Given the description of an element on the screen output the (x, y) to click on. 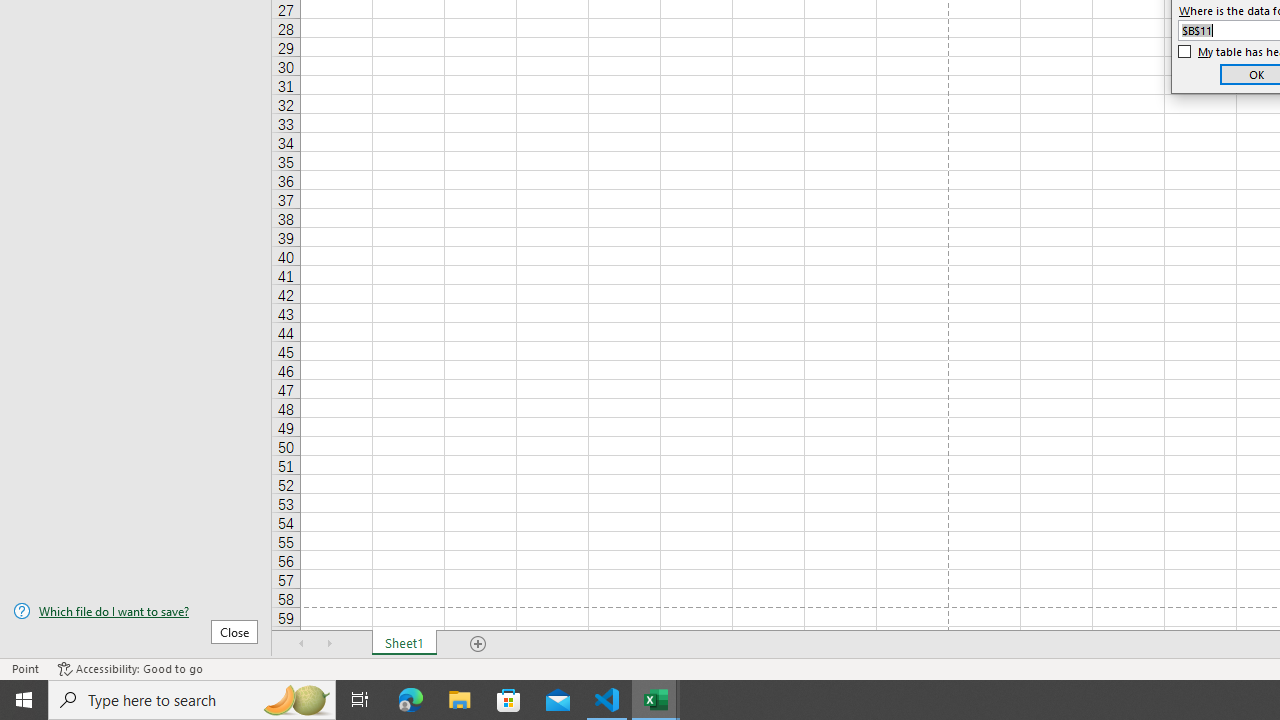
Microsoft Edge (411, 699)
Accessibility Checker Accessibility: Good to go (130, 668)
Excel - 2 running windows (656, 699)
Microsoft Store (509, 699)
Type here to search (191, 699)
Which file do I want to save? (136, 611)
Search highlights icon opens search home window (295, 699)
Start (24, 699)
Visual Studio Code - 1 running window (607, 699)
